Given the description of an element on the screen output the (x, y) to click on. 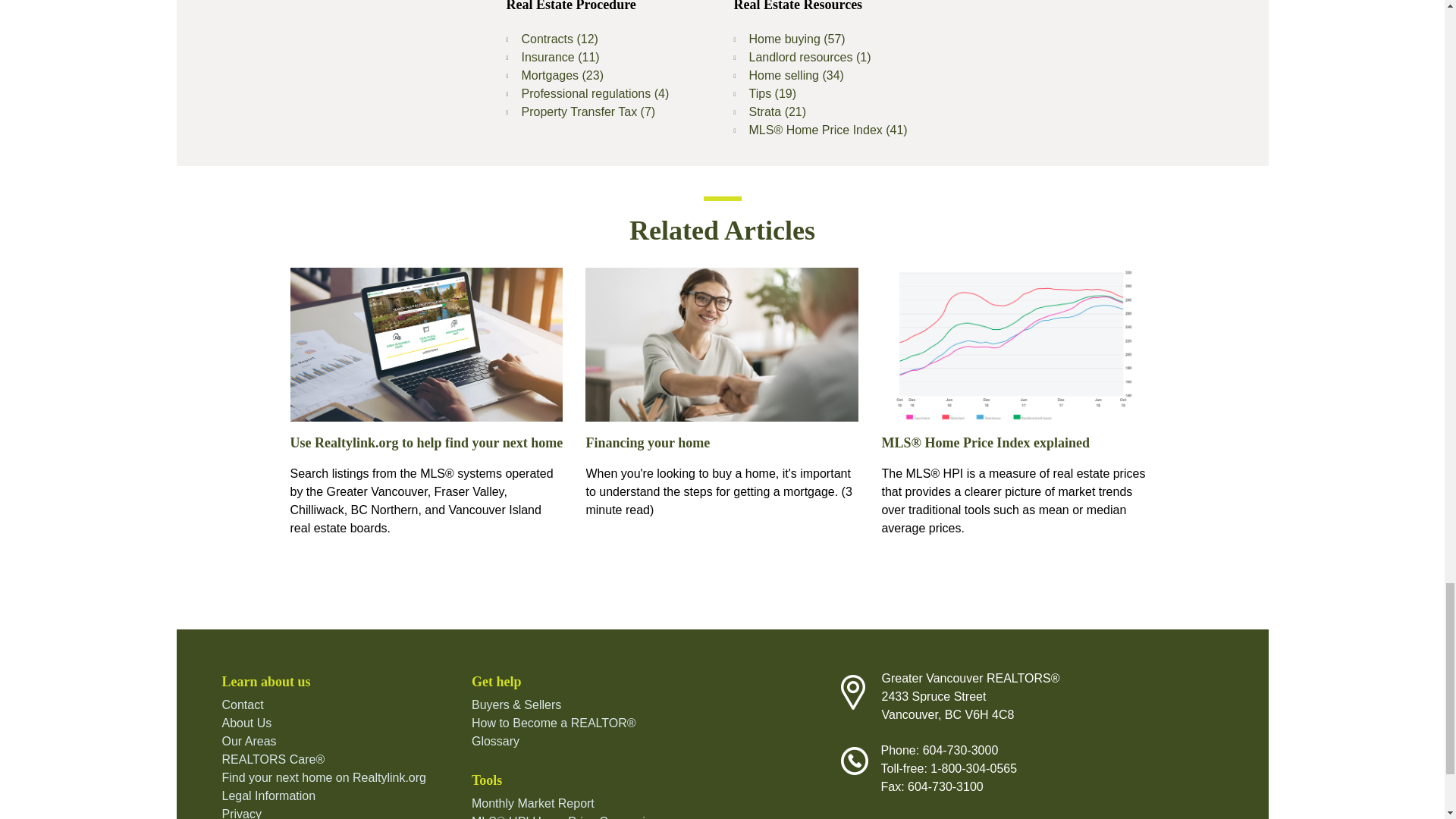
Our Areas (248, 740)
Find your next home on Realtylink.org (323, 777)
Legal Information (268, 795)
Privacy (240, 813)
Glossary (495, 740)
Monthly Market Report (532, 802)
About Us (245, 722)
Contact (242, 704)
